Given the description of an element on the screen output the (x, y) to click on. 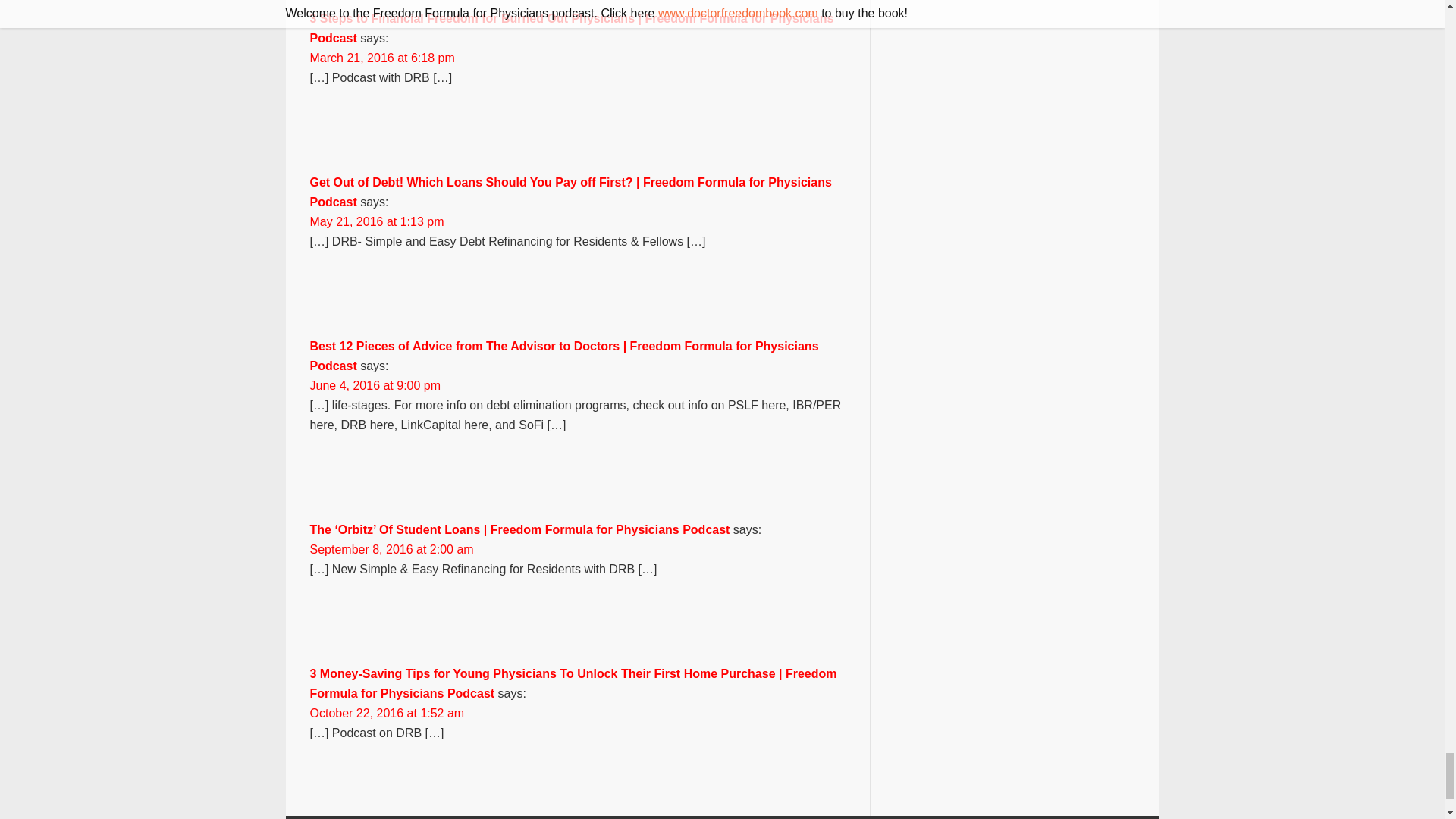
May 21, 2016 at 1:13 pm (376, 221)
June 4, 2016 at 9:00 pm (374, 385)
September 8, 2016 at 2:00 am (390, 549)
October 22, 2016 at 1:52 am (386, 712)
March 21, 2016 at 6:18 pm (381, 57)
